Given the description of an element on the screen output the (x, y) to click on. 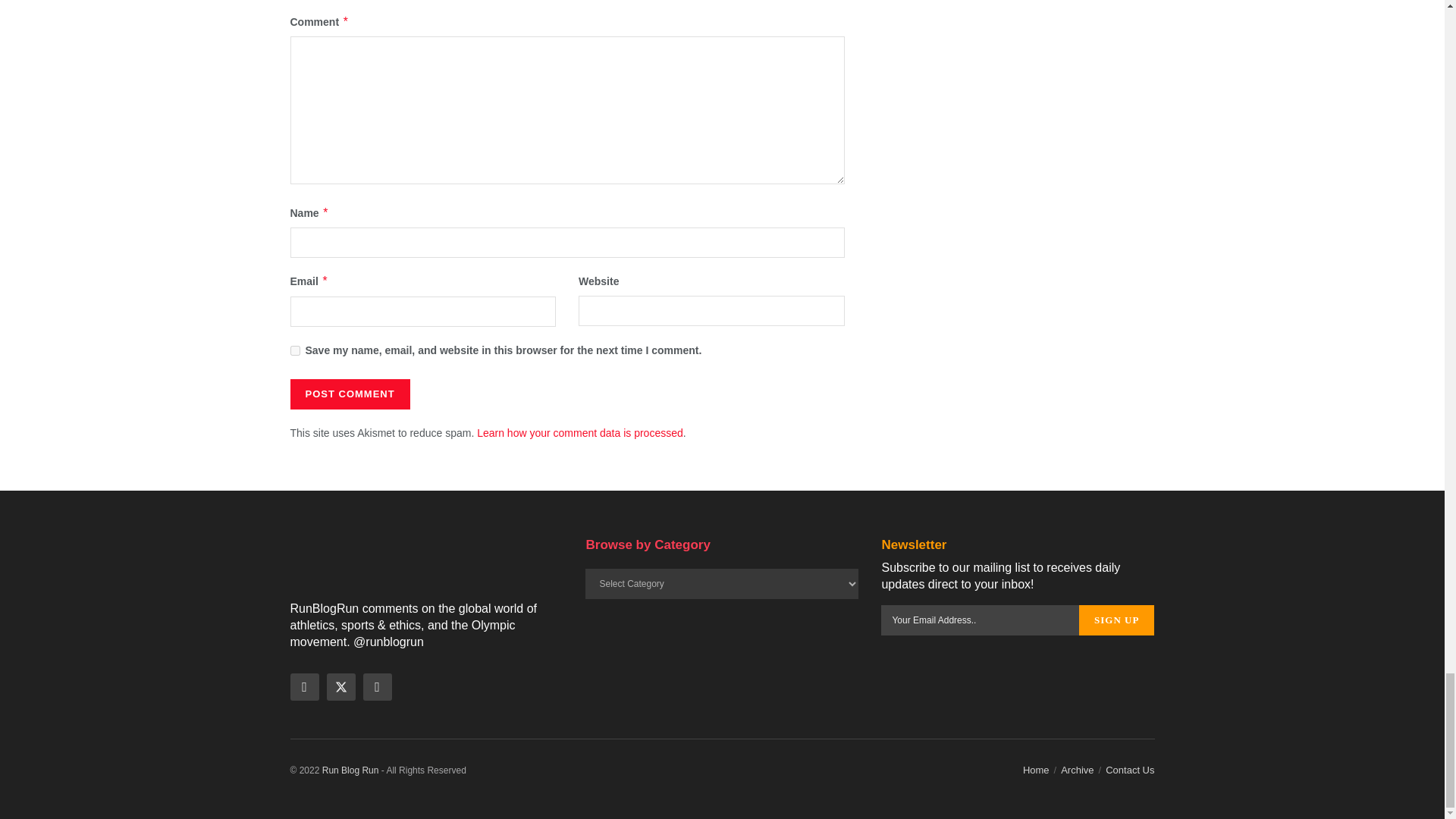
Post Comment (349, 394)
SIGN UP (1116, 620)
yes (294, 350)
Run Blog Run (349, 769)
